Given the description of an element on the screen output the (x, y) to click on. 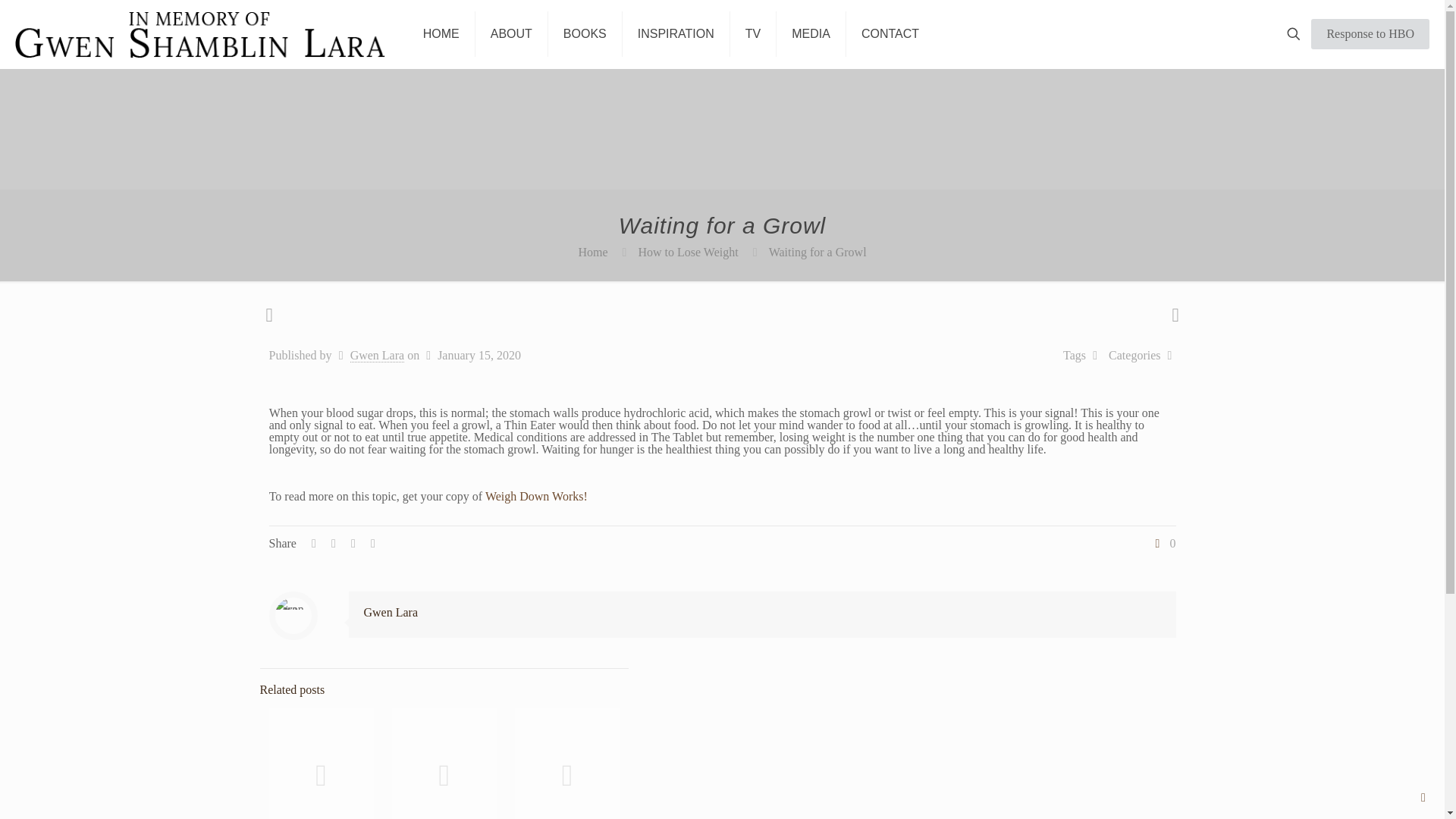
Response to HBO (1370, 33)
Gwen Lara (377, 355)
Gwen Shamblin Lara (199, 33)
BOOKS (585, 33)
Home (592, 251)
Weigh Down Works! (536, 495)
CONTACT (889, 33)
HOME (441, 33)
Gwen Lara (391, 612)
ABOUT (512, 33)
